Given the description of an element on the screen output the (x, y) to click on. 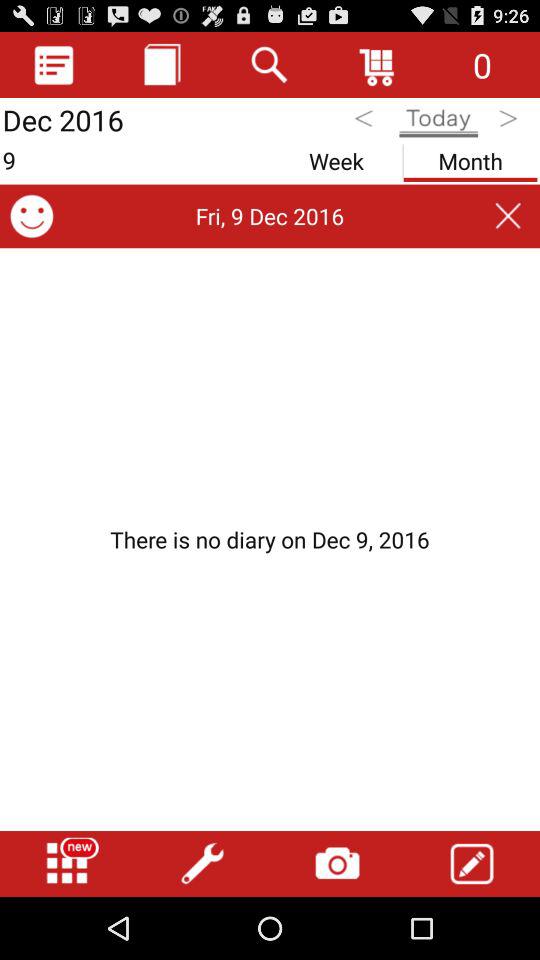
tap for month (470, 157)
